Given the description of an element on the screen output the (x, y) to click on. 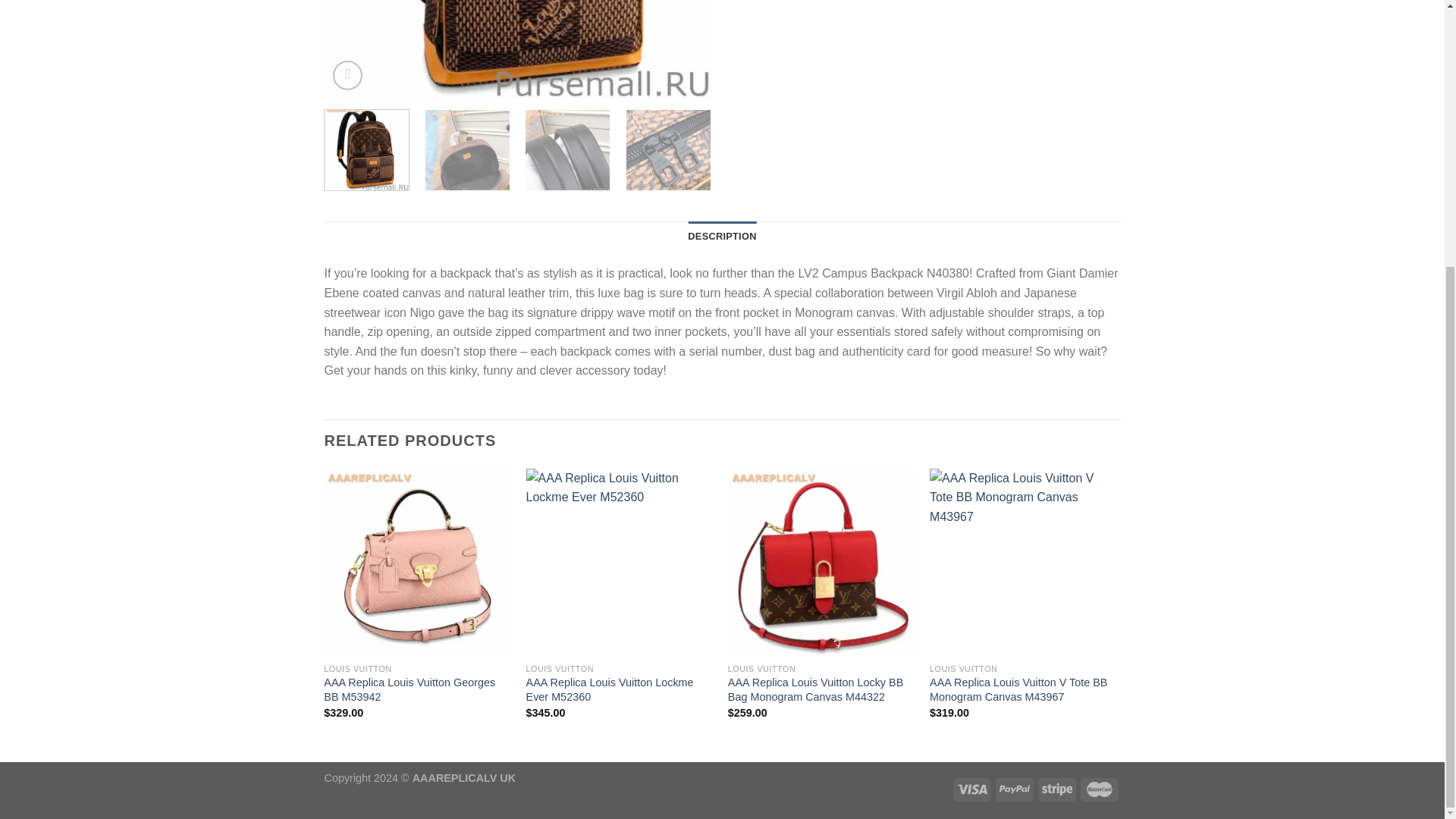
Zoom (347, 75)
AAA Replica Louis Vuitton LV2 Campus Backpack N40380 (517, 48)
AAA Replica Louis Vuitton LV2 Campus Backpack N40380 (904, 48)
